Given the description of an element on the screen output the (x, y) to click on. 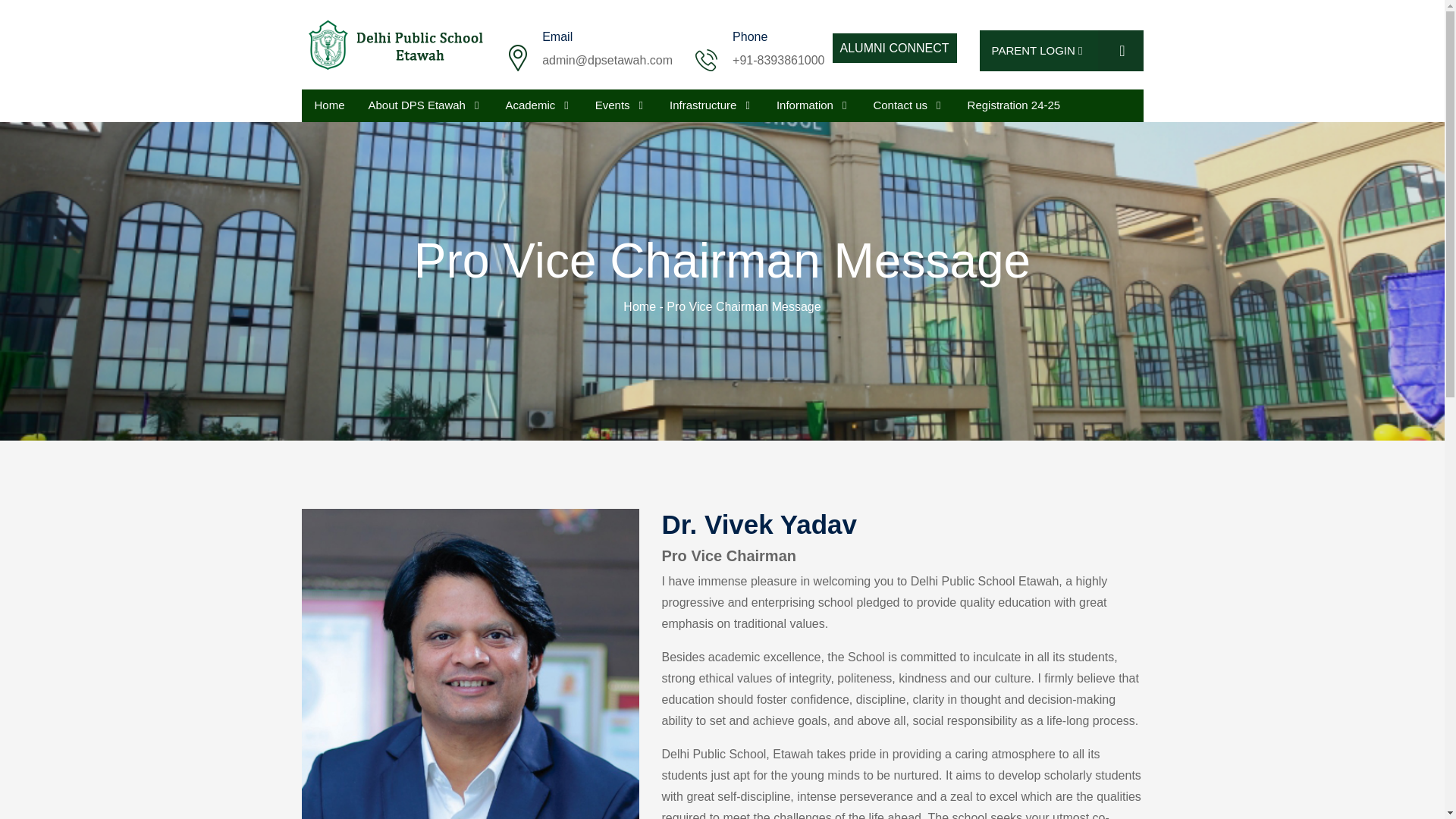
About DPS Etawah (424, 105)
Academic (536, 105)
ALUMNI CONNECT (890, 44)
PARENT LOGIN (1060, 51)
Infrastructure (709, 105)
Events (619, 105)
Home (328, 105)
